Given the description of an element on the screen output the (x, y) to click on. 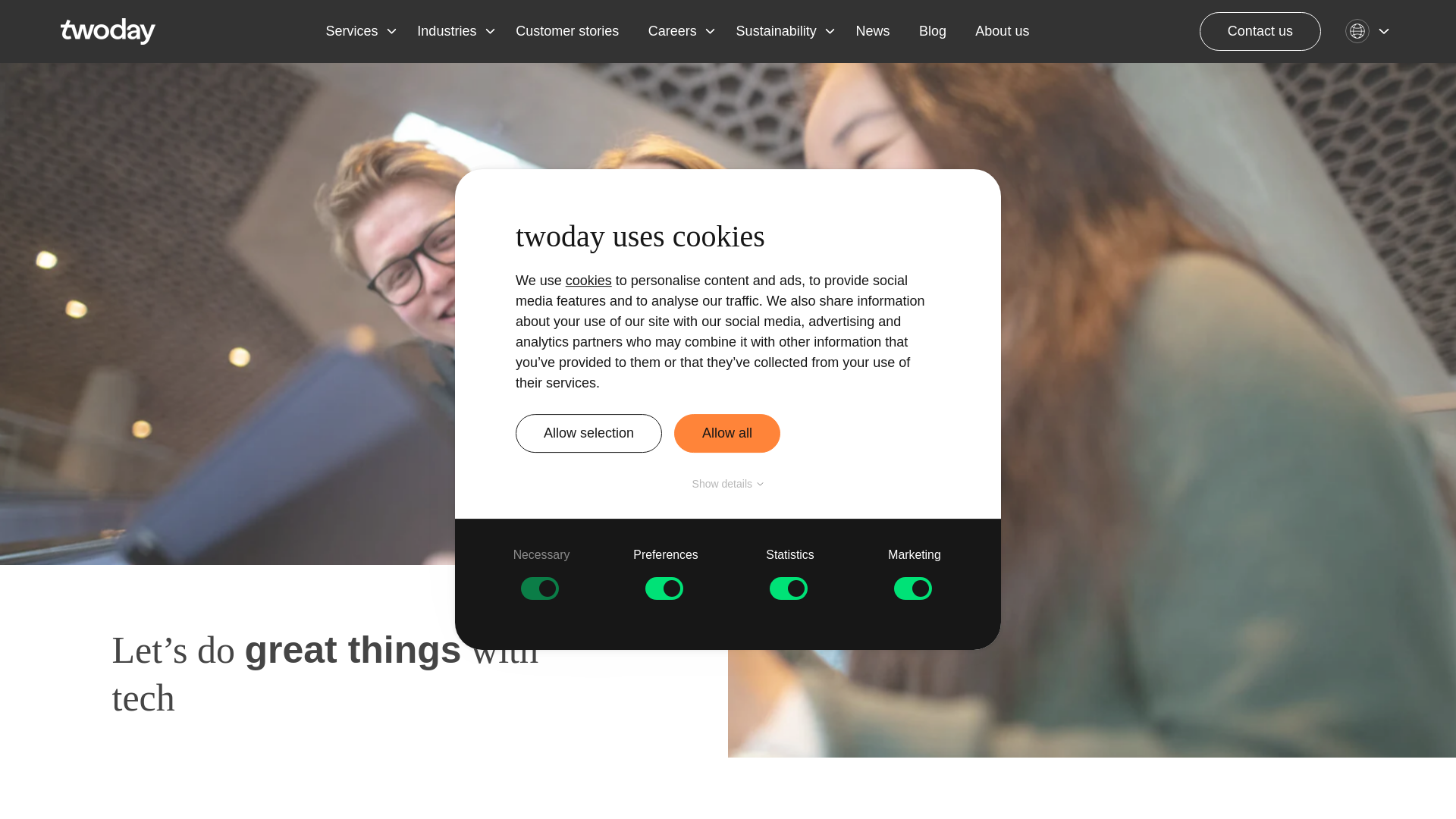
cookies (588, 280)
Show details (728, 483)
Allow all (727, 433)
Allow selection (588, 433)
